Given the description of an element on the screen output the (x, y) to click on. 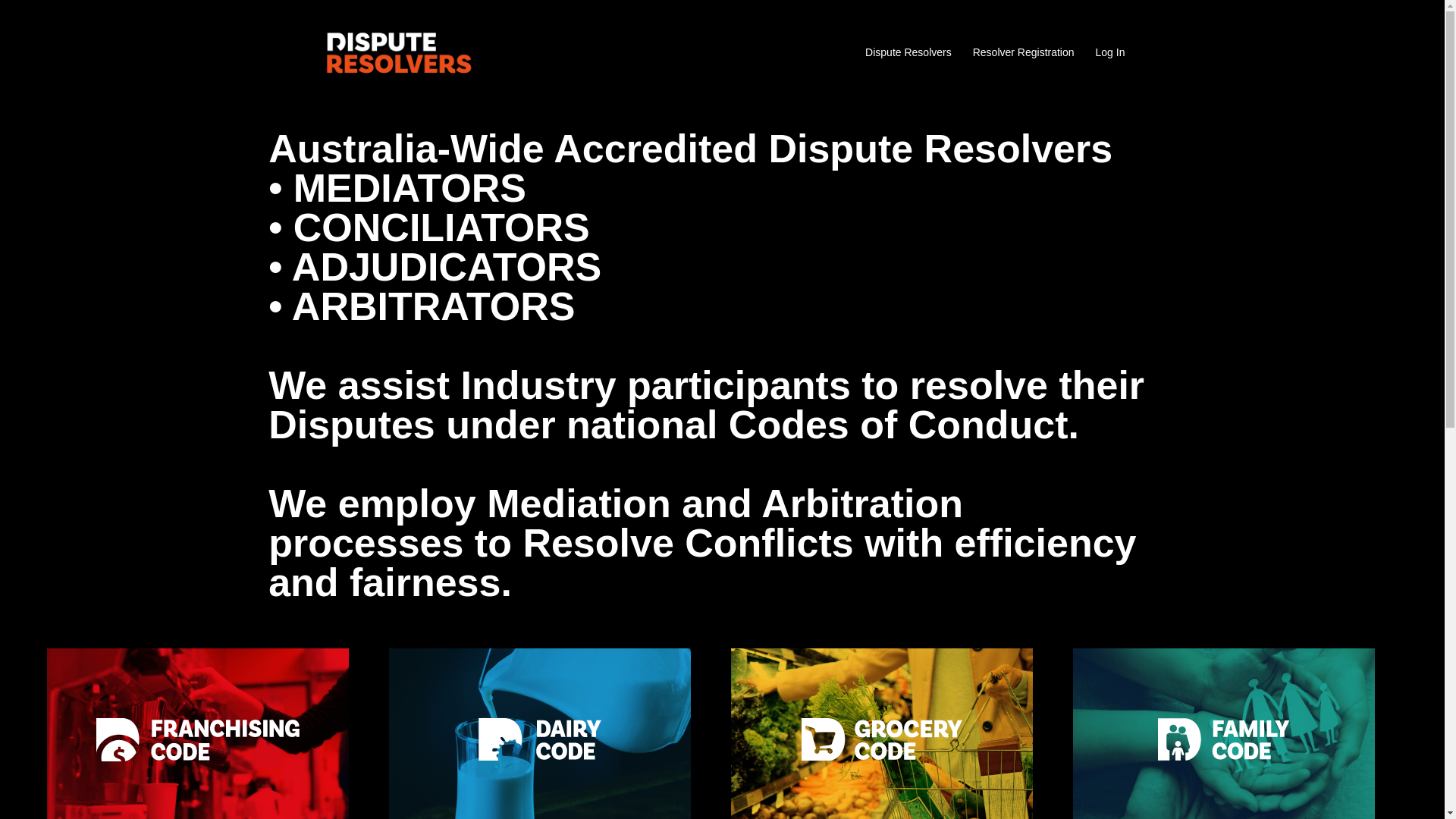
Log In Element type: text (1110, 52)
Resolver Registration Element type: text (1023, 52)
Dispute Resolvers Element type: hover (399, 51)
Dispute Resolvers Element type: text (908, 52)
